Given the description of an element on the screen output the (x, y) to click on. 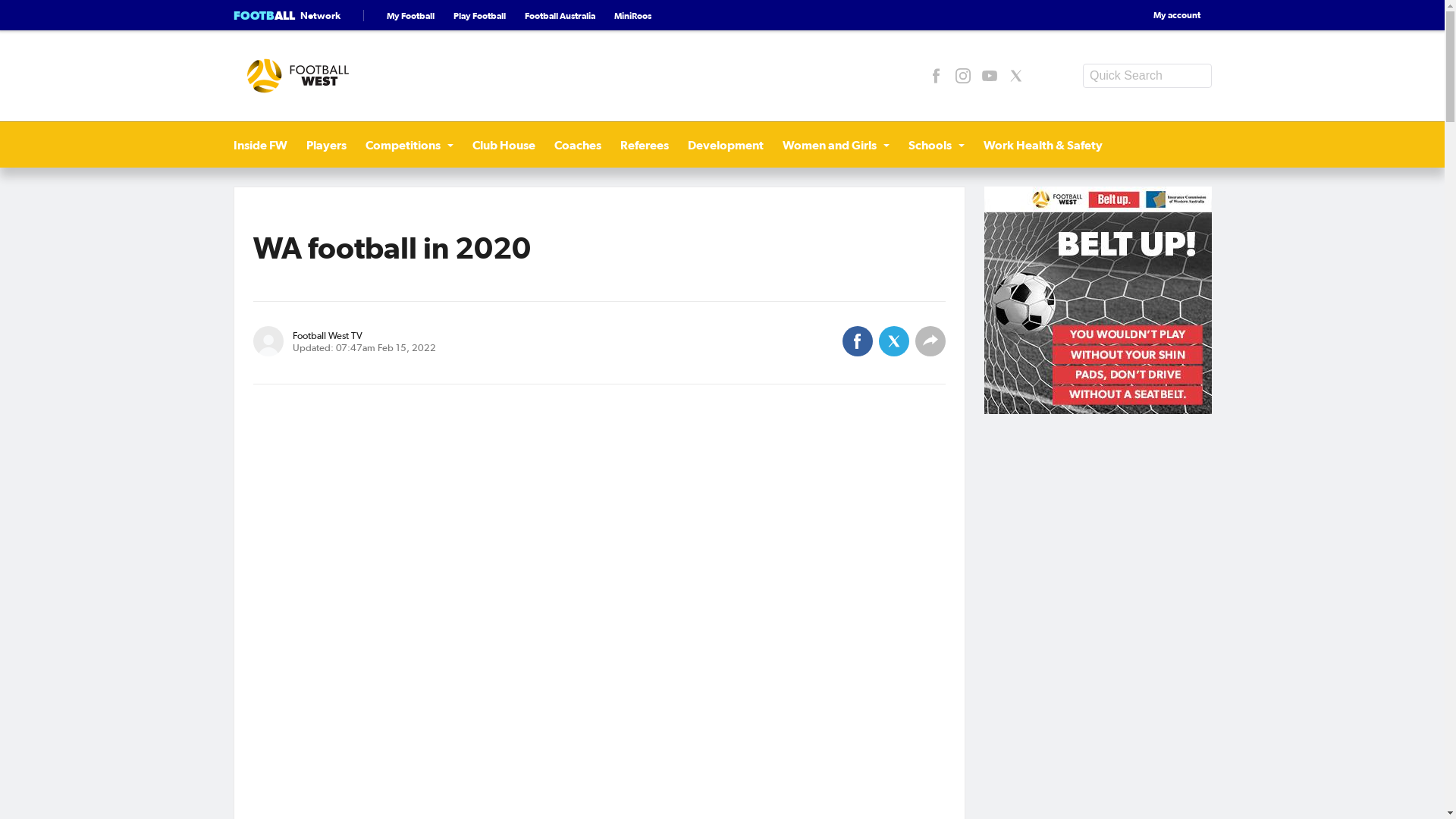
Players Element type: text (326, 144)
Play Football Element type: text (479, 15)
Inside FW Element type: text (260, 144)
Coaches Element type: text (576, 144)
Development Element type: text (724, 144)
My account Element type: text (1164, 15)
Work Health & Safety Element type: text (1041, 144)
MiniRoos Element type: text (632, 15)
Football Australia Element type: text (559, 15)
Club House Element type: text (502, 144)
Referees Element type: text (644, 144)
My Football Element type: text (410, 15)
